Given the description of an element on the screen output the (x, y) to click on. 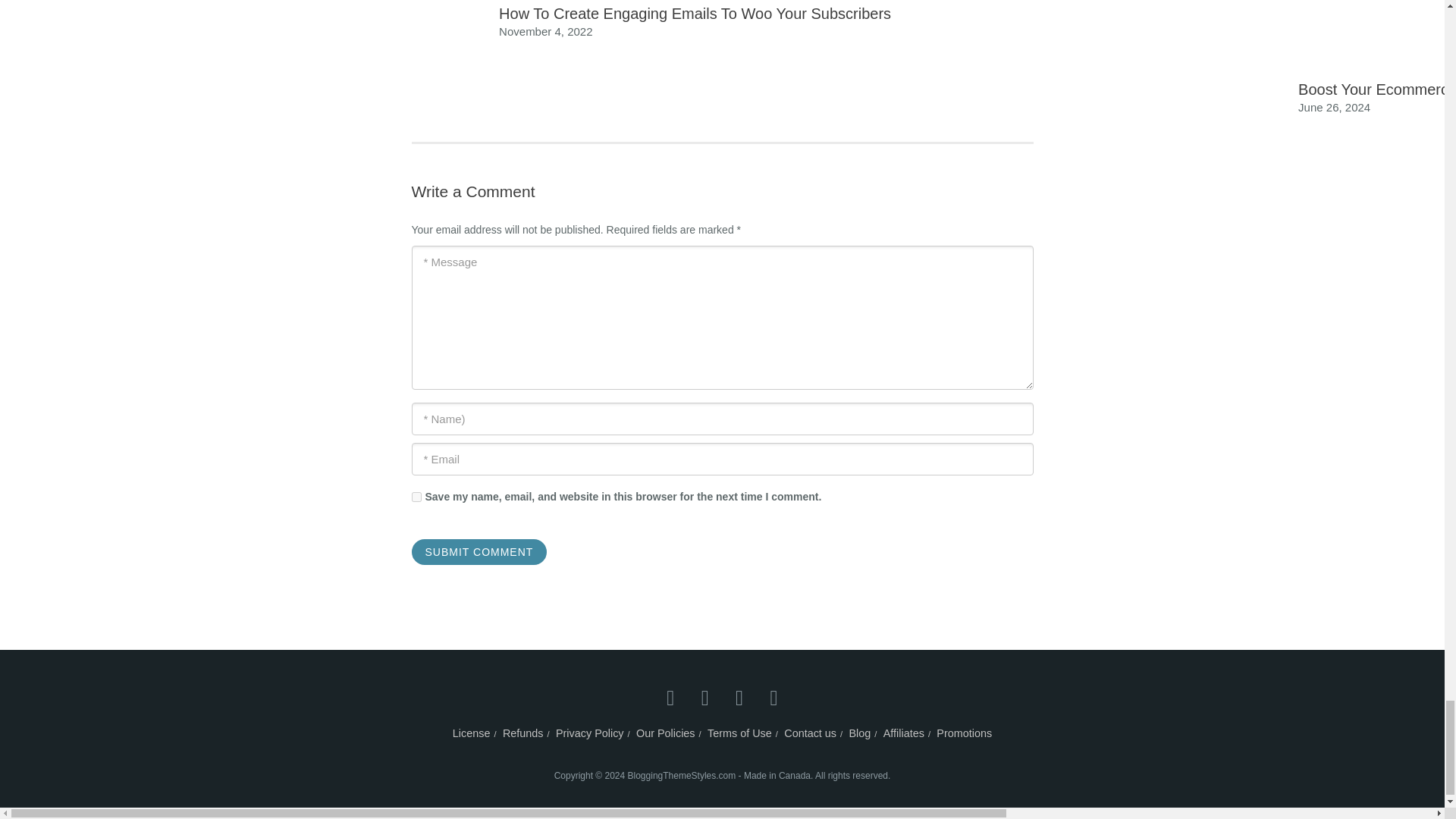
yes (415, 497)
Submit Comment (478, 551)
